Given the description of an element on the screen output the (x, y) to click on. 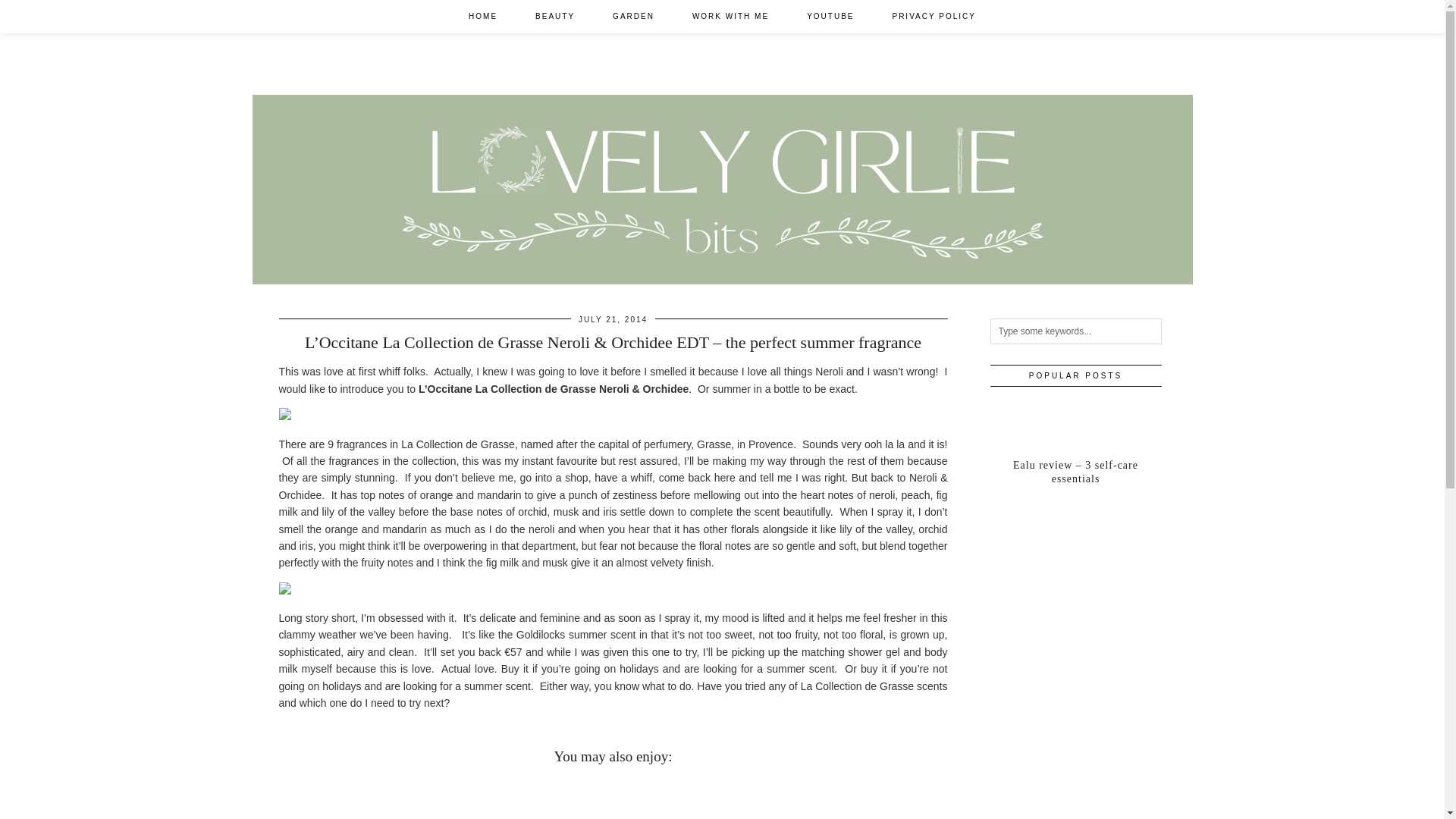
HOME (482, 16)
YOUTUBE (829, 16)
GARDEN (633, 16)
PRIVACY POLICY (933, 16)
WORK WITH ME (729, 16)
BEAUTY (555, 16)
